Given the description of an element on the screen output the (x, y) to click on. 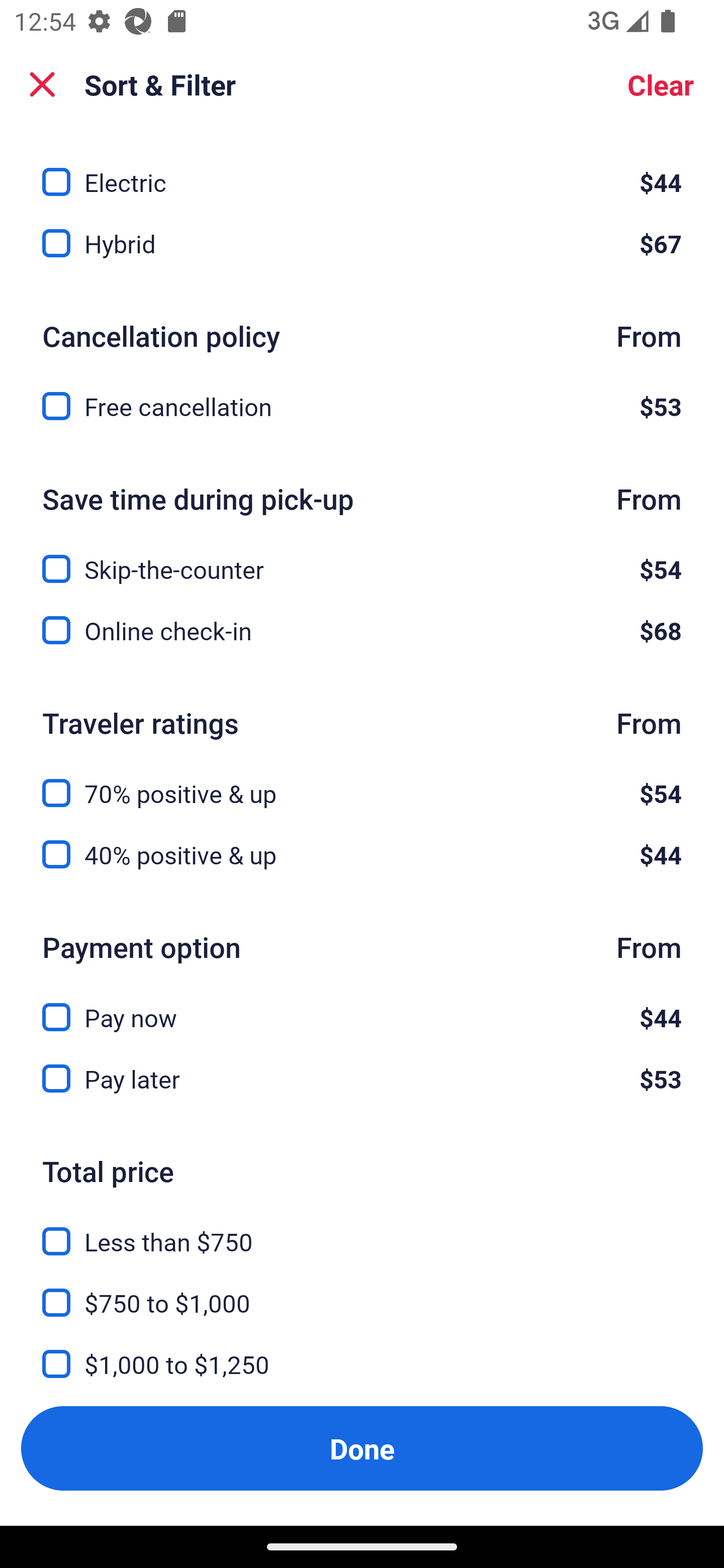
Close Sort and Filter (42, 84)
Clear (660, 84)
Electric, $44 Electric $44 (361, 170)
Hybrid, $67 Hybrid $67 (361, 243)
Free cancellation, $53 Free cancellation $53 (361, 405)
Skip-the-counter, $54 Skip-the-counter $54 (361, 557)
Online check-in, $68 Online check-in $68 (361, 630)
70% positive & up, $54 70% positive & up $54 (361, 781)
40% positive & up, $44 40% positive & up $44 (361, 854)
Pay now, $44 Pay now $44 (361, 1005)
Pay later, $53 Pay later $53 (361, 1078)
Less than $750, Less than $750 (361, 1229)
$750 to $1,000, $750 to $1,000 (361, 1290)
$1,000 to $1,250, $1,000 to $1,250 (361, 1351)
Apply and close Sort and Filter Done (361, 1448)
